Given the description of an element on the screen output the (x, y) to click on. 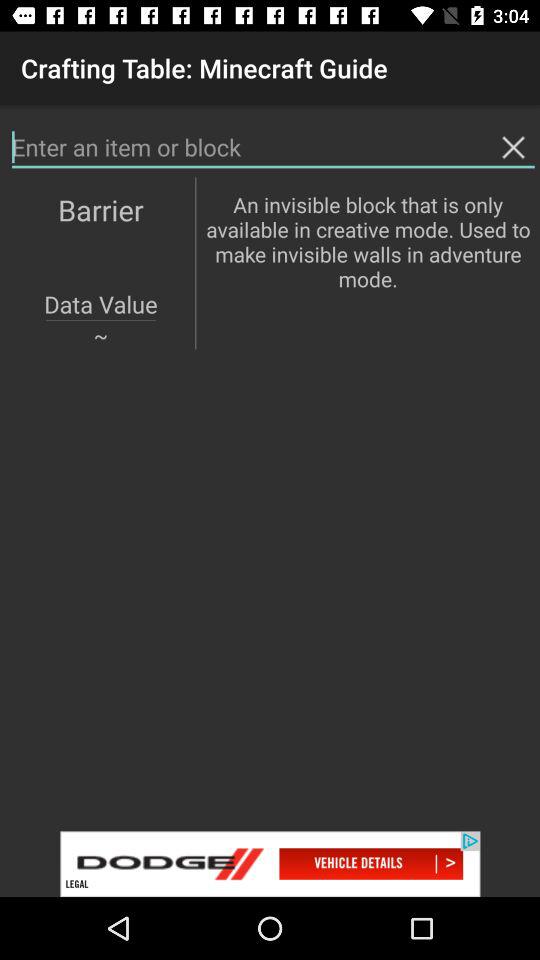
advertisement page (270, 864)
